Given the description of an element on the screen output the (x, y) to click on. 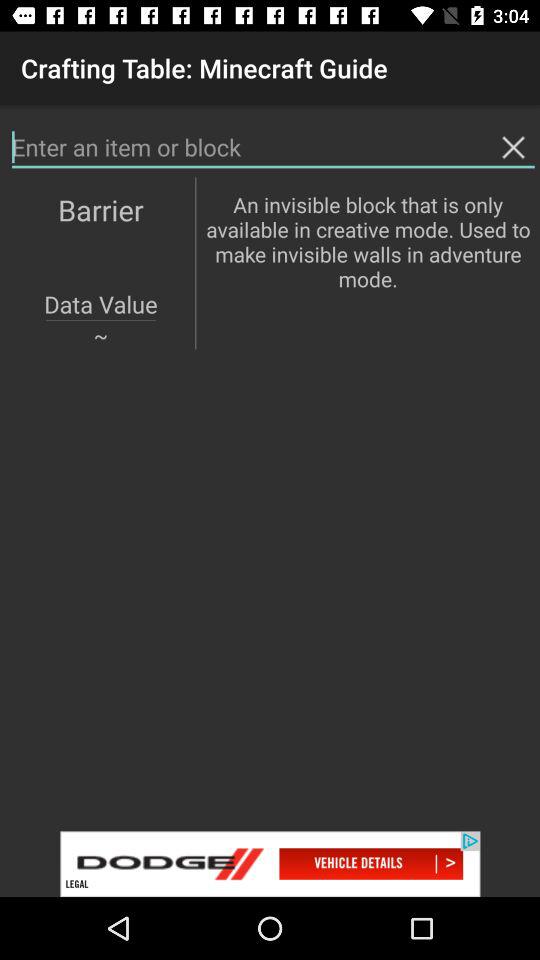
advertisement page (270, 864)
